Given the description of an element on the screen output the (x, y) to click on. 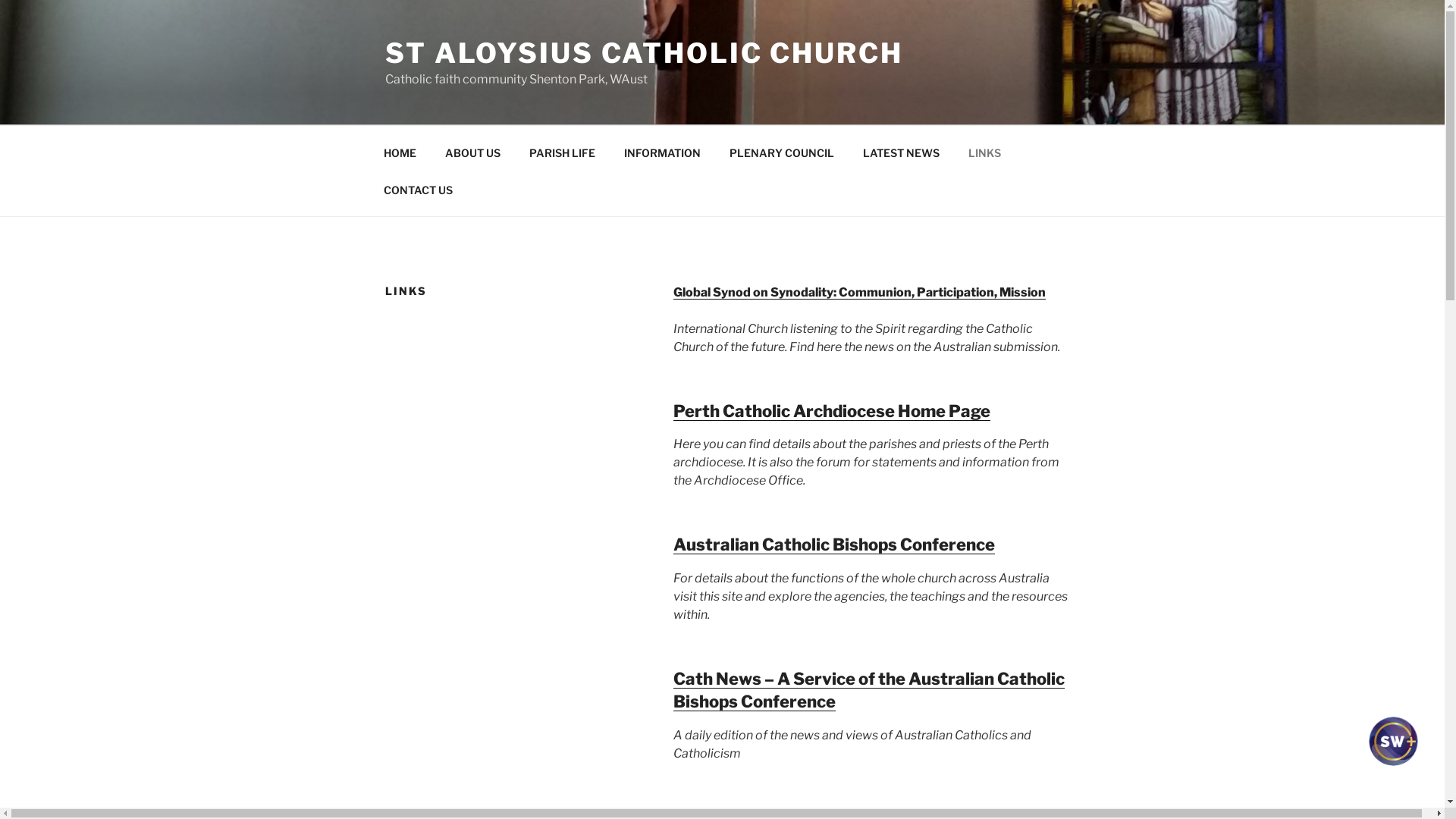
LINKS Element type: text (983, 151)
INFORMATION Element type: text (661, 151)
Perth Catholic Archdiocese Home Page Element type: text (831, 410)
LATEST NEWS Element type: text (900, 151)
ST ALOYSIUS CATHOLIC CHURCH Element type: text (644, 52)
PLENARY COUNCIL Element type: text (781, 151)
Australian Catholic Bishops Conference Element type: text (833, 544)
PARISH LIFE Element type: text (561, 151)
HOME Element type: text (399, 151)
SW Plus Element type: hover (1391, 754)
CONTACT US Element type: text (417, 189)
ABOUT US Element type: text (472, 151)
